Given the description of an element on the screen output the (x, y) to click on. 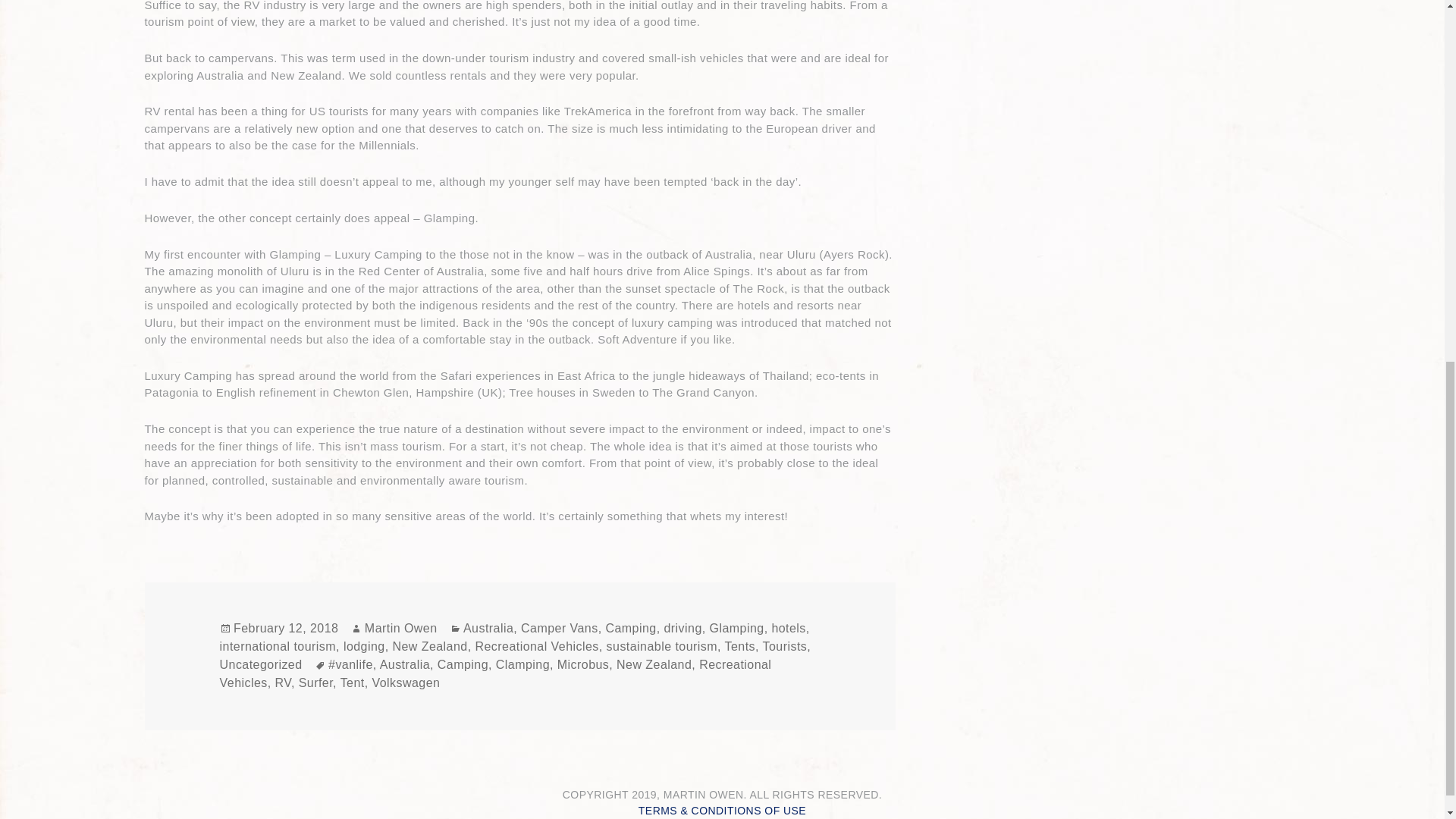
driving (682, 628)
Clamping (523, 664)
Microbus (583, 664)
Glamping (737, 628)
international tourism (277, 646)
Recreational Vehicles (495, 674)
New Zealand (653, 664)
lodging (364, 646)
hotels (788, 628)
February 12, 2018 (284, 628)
